Given the description of an element on the screen output the (x, y) to click on. 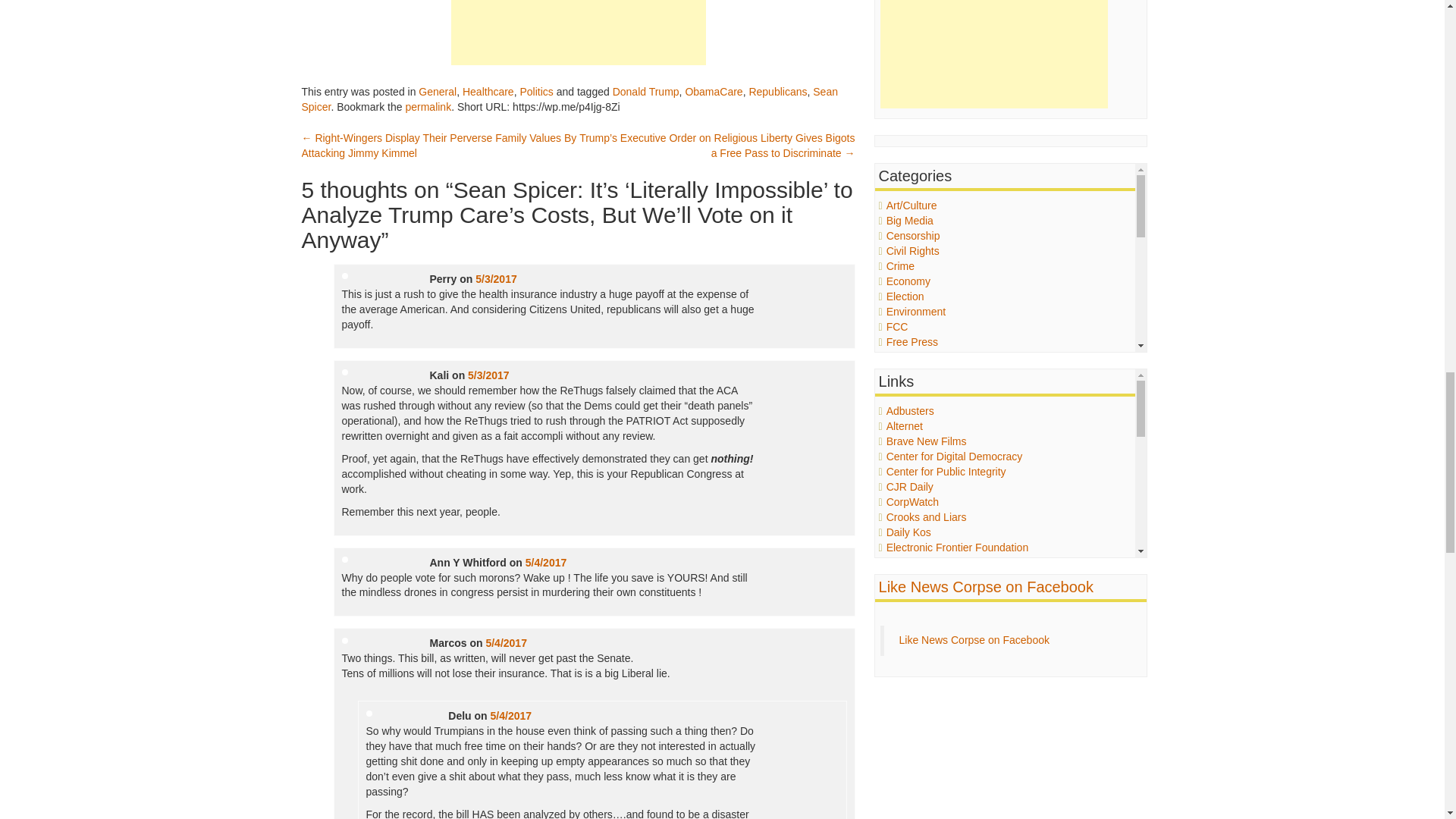
Politics (536, 91)
Republicans (777, 91)
ObamaCare (713, 91)
General (438, 91)
Healthcare (488, 91)
Donald Trump (645, 91)
